Given the description of an element on the screen output the (x, y) to click on. 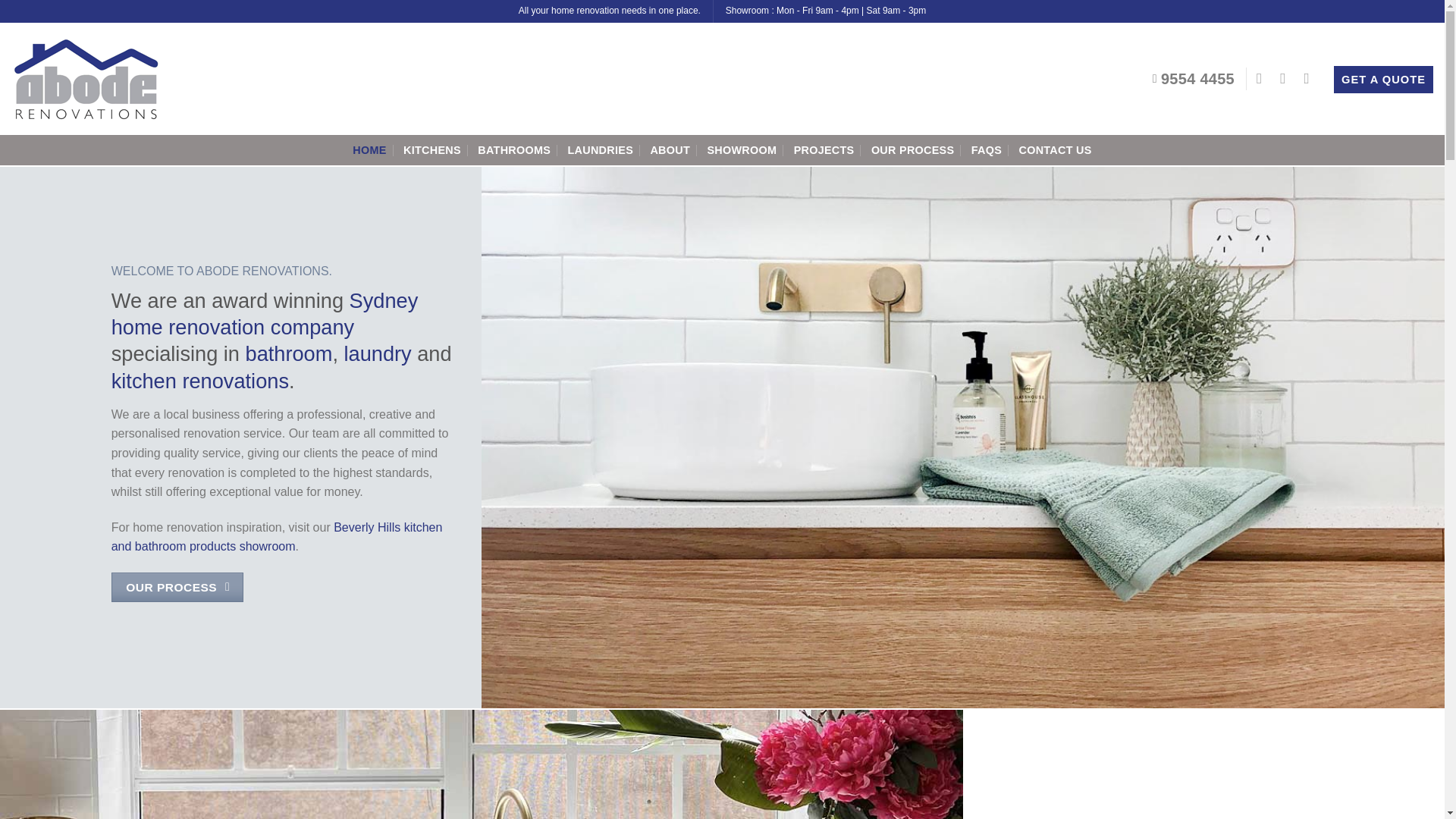
FAQS (986, 150)
PROJECTS (823, 150)
kitchen renovations (200, 381)
OUR PROCESS (177, 586)
CONTACT US (1055, 150)
laundry (377, 353)
Send us an email (1311, 77)
9554 4455 (1193, 78)
Follow on Instagram (1287, 77)
BATHROOMS (513, 150)
HOME (368, 150)
GET A QUOTE (1382, 79)
OUR PROCESS (912, 150)
ABOUT (669, 150)
Follow on Facebook (1263, 77)
